Given the description of an element on the screen output the (x, y) to click on. 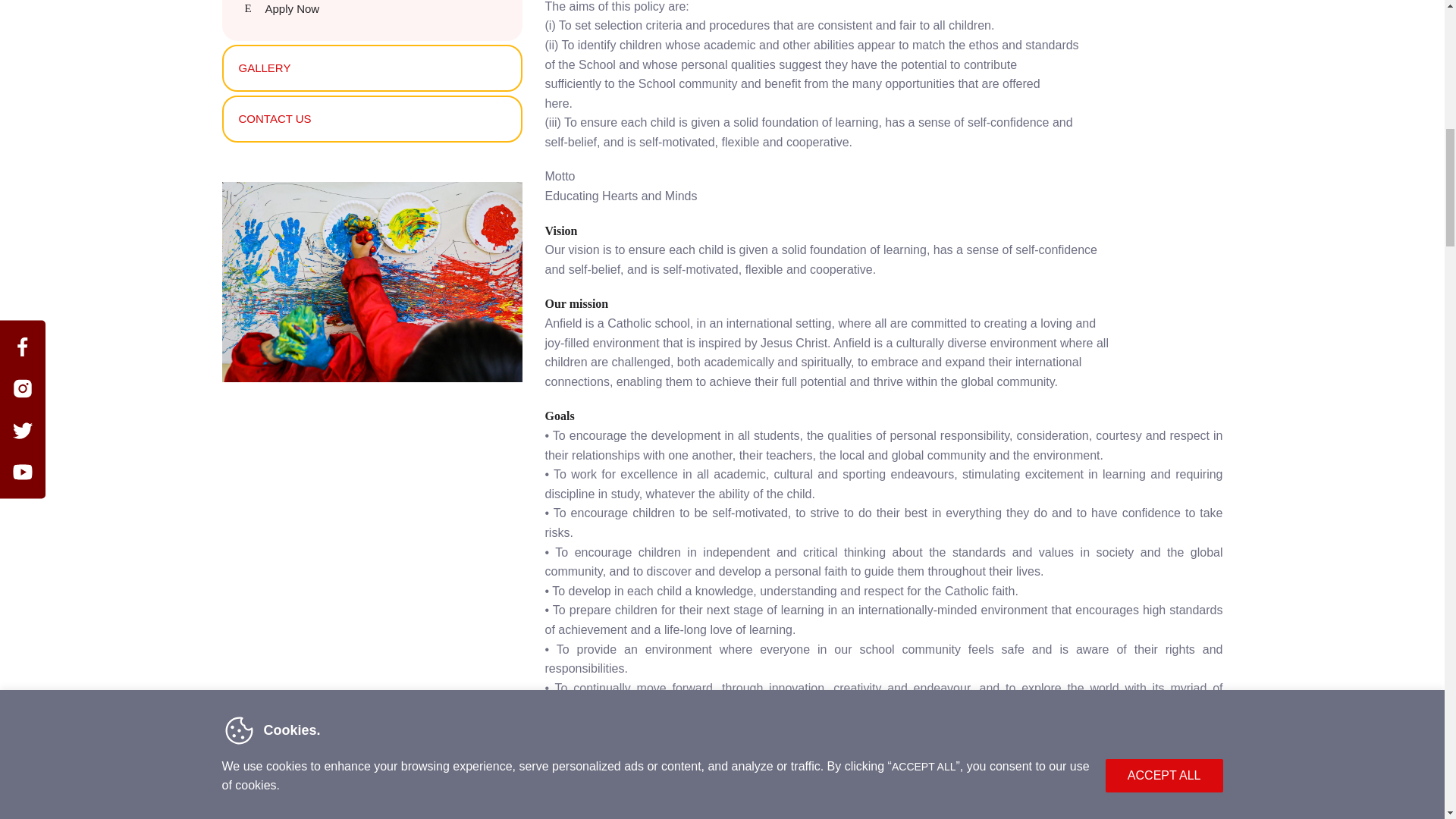
KT-left-img (371, 281)
